Given the description of an element on the screen output the (x, y) to click on. 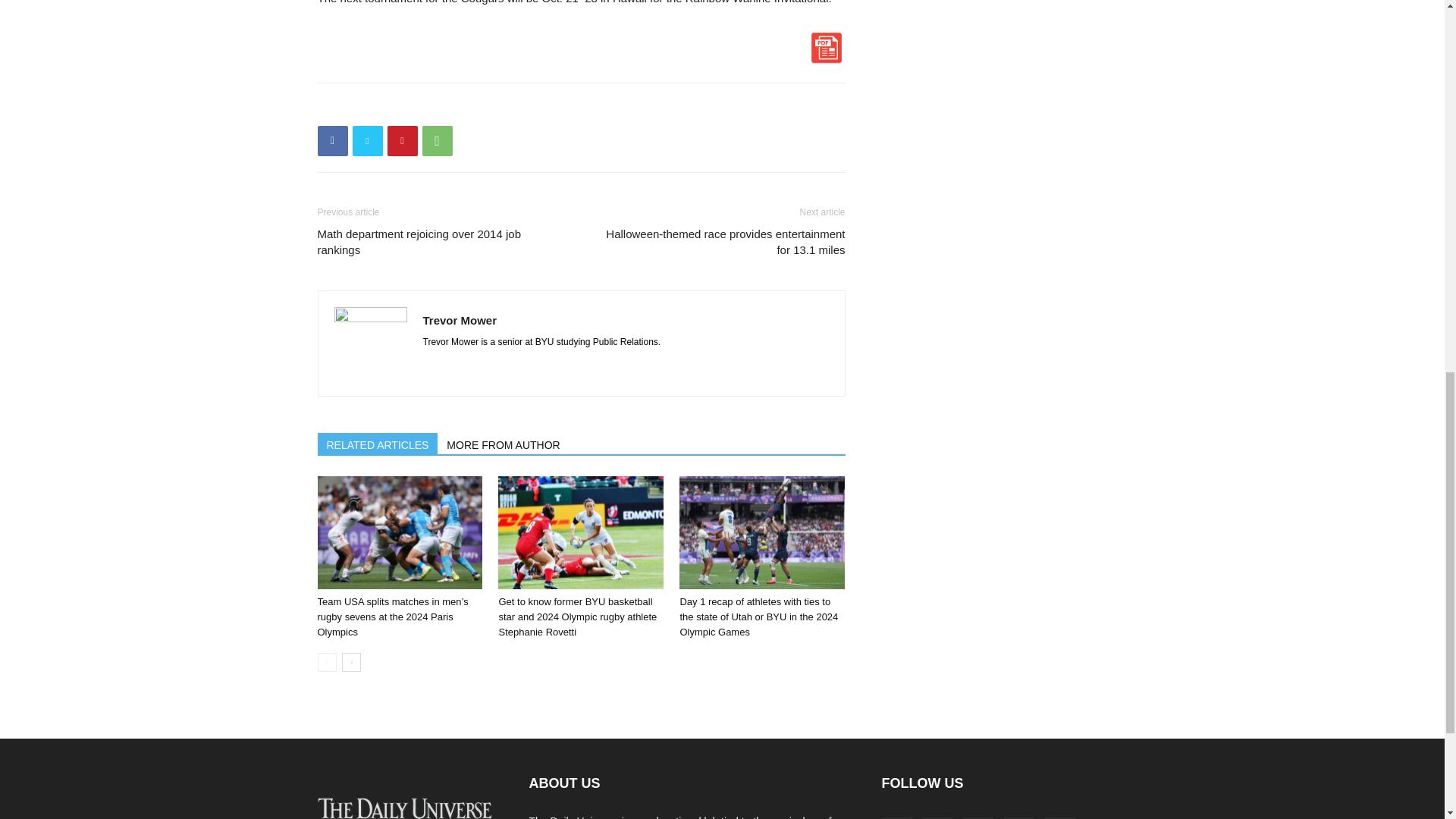
WhatsApp (436, 141)
Facebook (332, 141)
Pinterest (401, 141)
Twitter (366, 141)
